Given the description of an element on the screen output the (x, y) to click on. 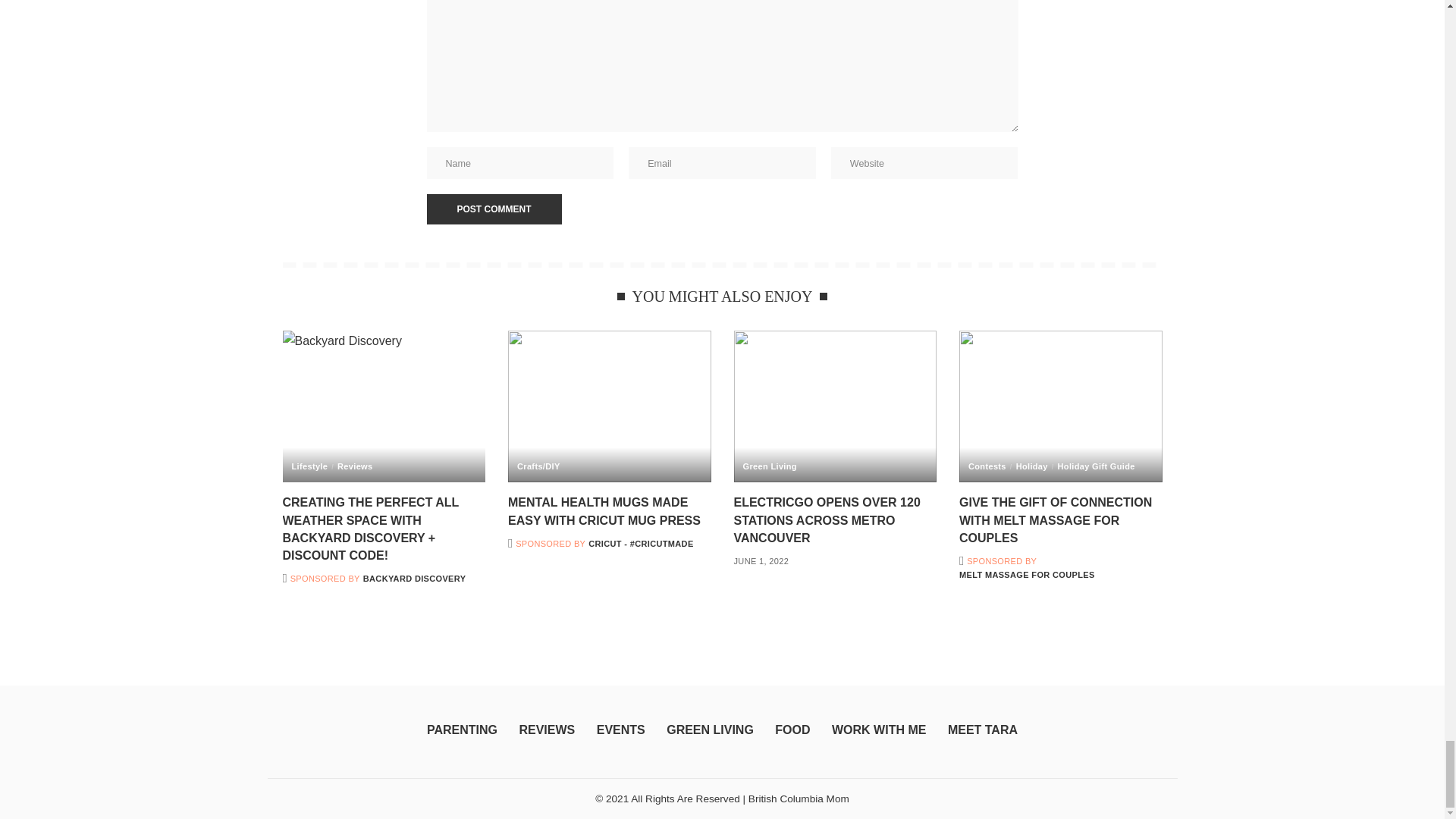
Post Comment (493, 209)
